Given the description of an element on the screen output the (x, y) to click on. 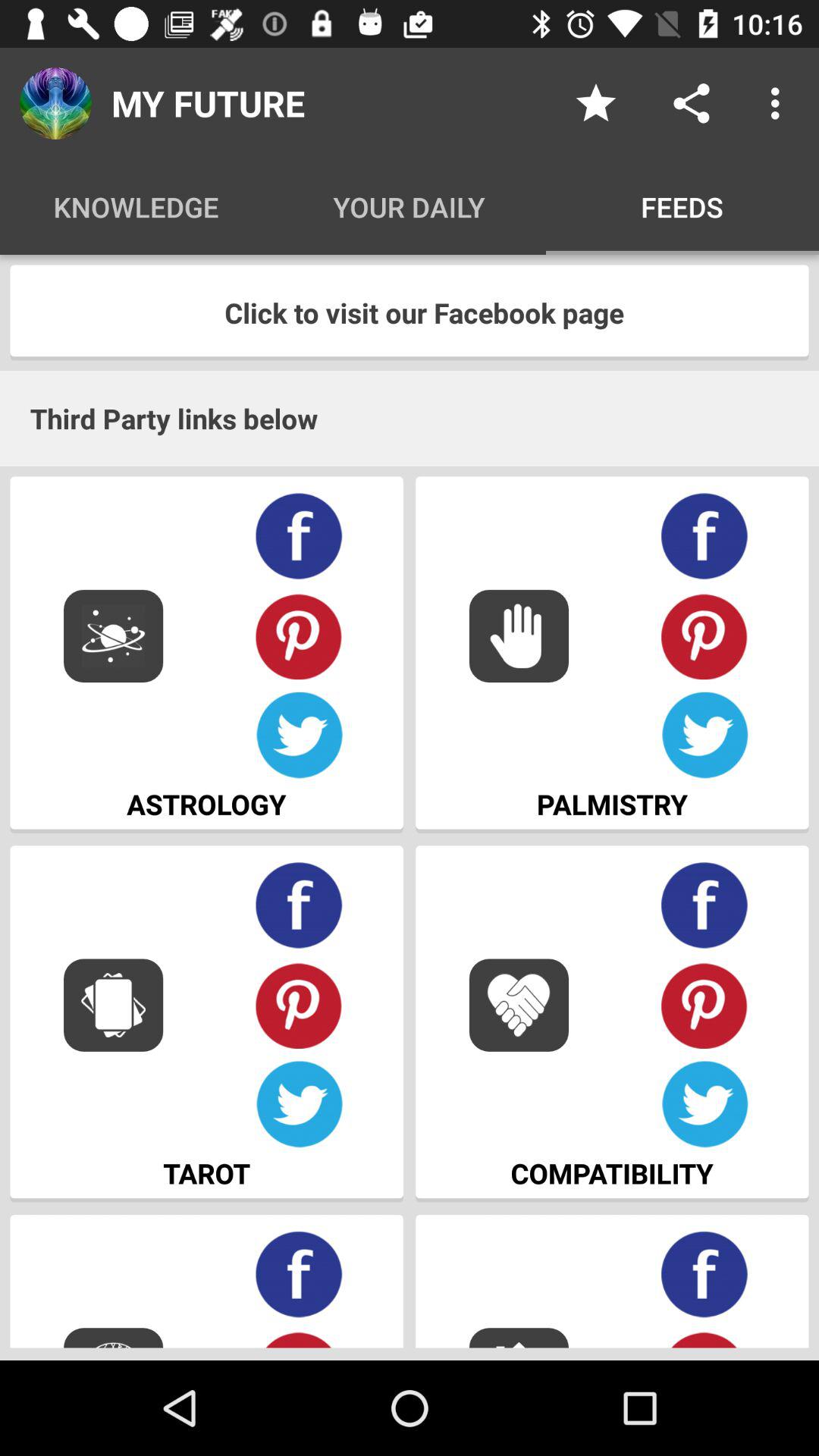
post to pinterest (299, 1005)
